Given the description of an element on the screen output the (x, y) to click on. 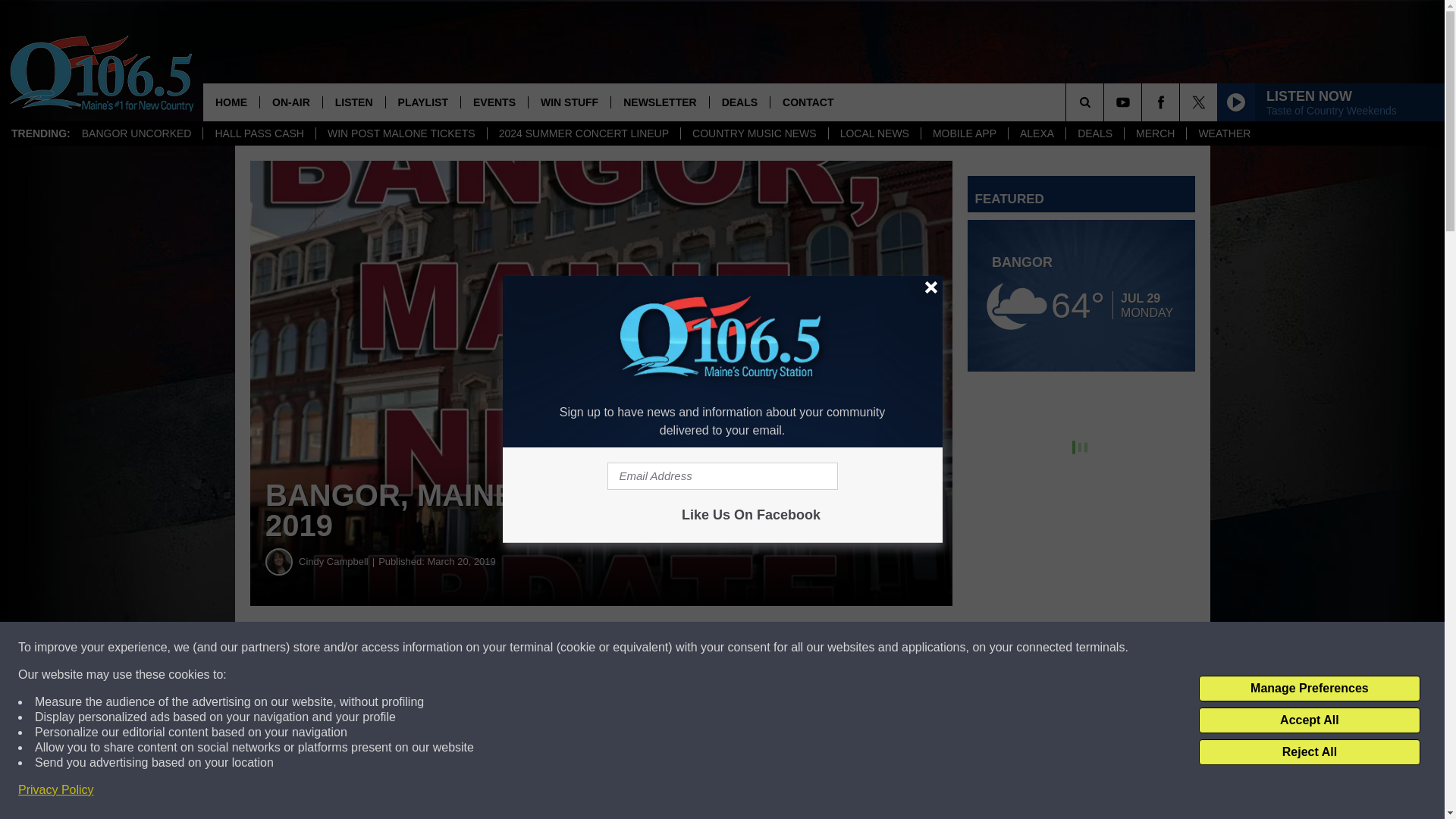
Manage Preferences (1309, 688)
2024 SUMMER CONCERT LINEUP (582, 133)
EVENTS (493, 102)
ON-AIR (290, 102)
LOCAL NEWS (874, 133)
WIN STUFF (568, 102)
WIN POST MALONE TICKETS (400, 133)
MOBILE APP (963, 133)
HOME (231, 102)
SEARCH (1106, 102)
Share on Facebook (460, 647)
DEALS (1094, 133)
WEATHER (1224, 133)
Accept All (1309, 720)
BANGOR UNCORKED (136, 133)
